Given the description of an element on the screen output the (x, y) to click on. 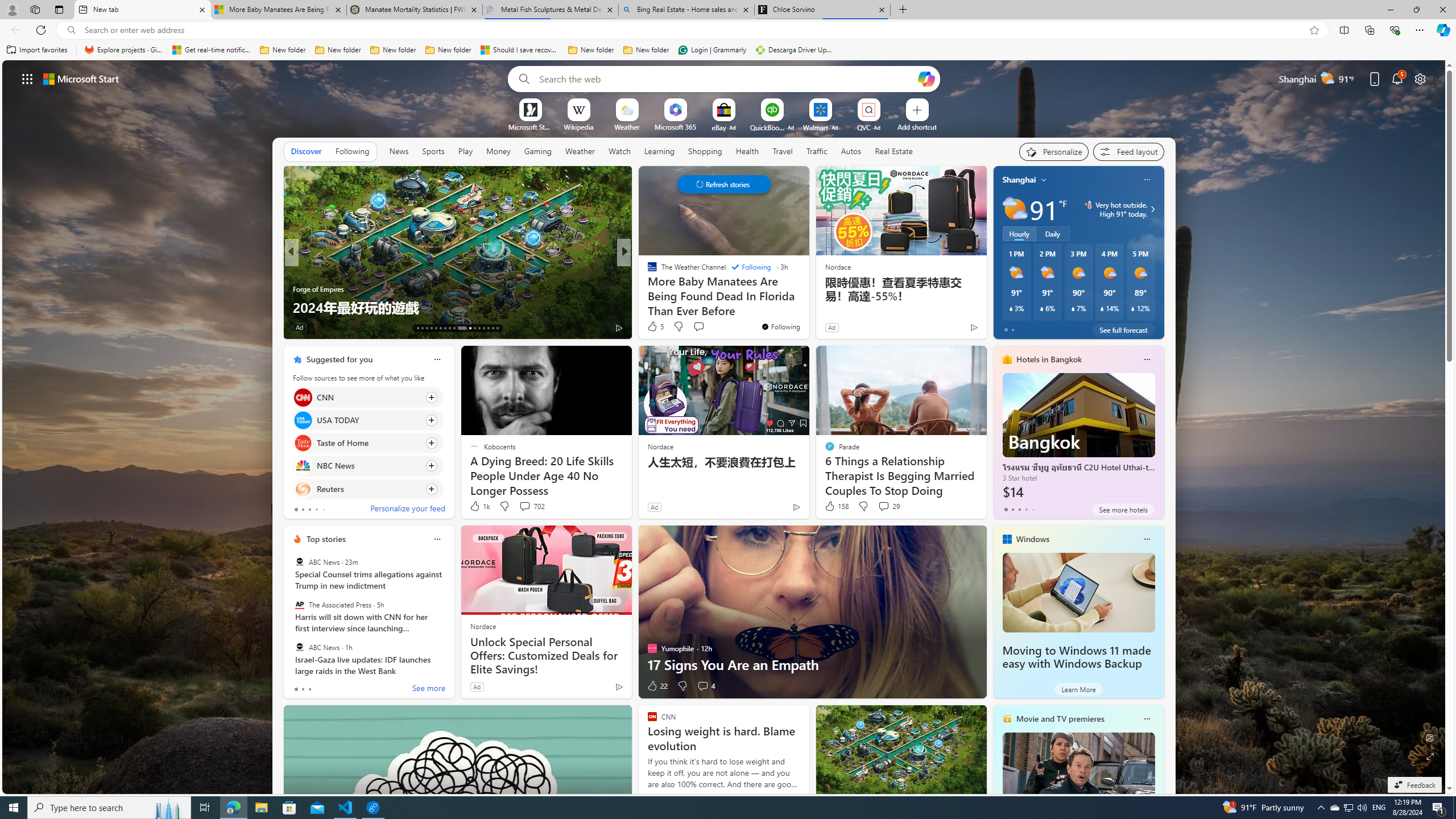
tab-2 (309, 689)
Import favorites (36, 49)
View comments 1 Comment (702, 327)
17 Like (652, 327)
Microsoft 365 (675, 126)
16 Like (652, 327)
Start the conversation (698, 326)
Descarga Driver Updater (794, 49)
My location (1043, 179)
Taste of Home (302, 443)
Moving to Windows 11 made easy with Windows Backup (1077, 592)
View comments 702 Comment (523, 505)
